Given the description of an element on the screen output the (x, y) to click on. 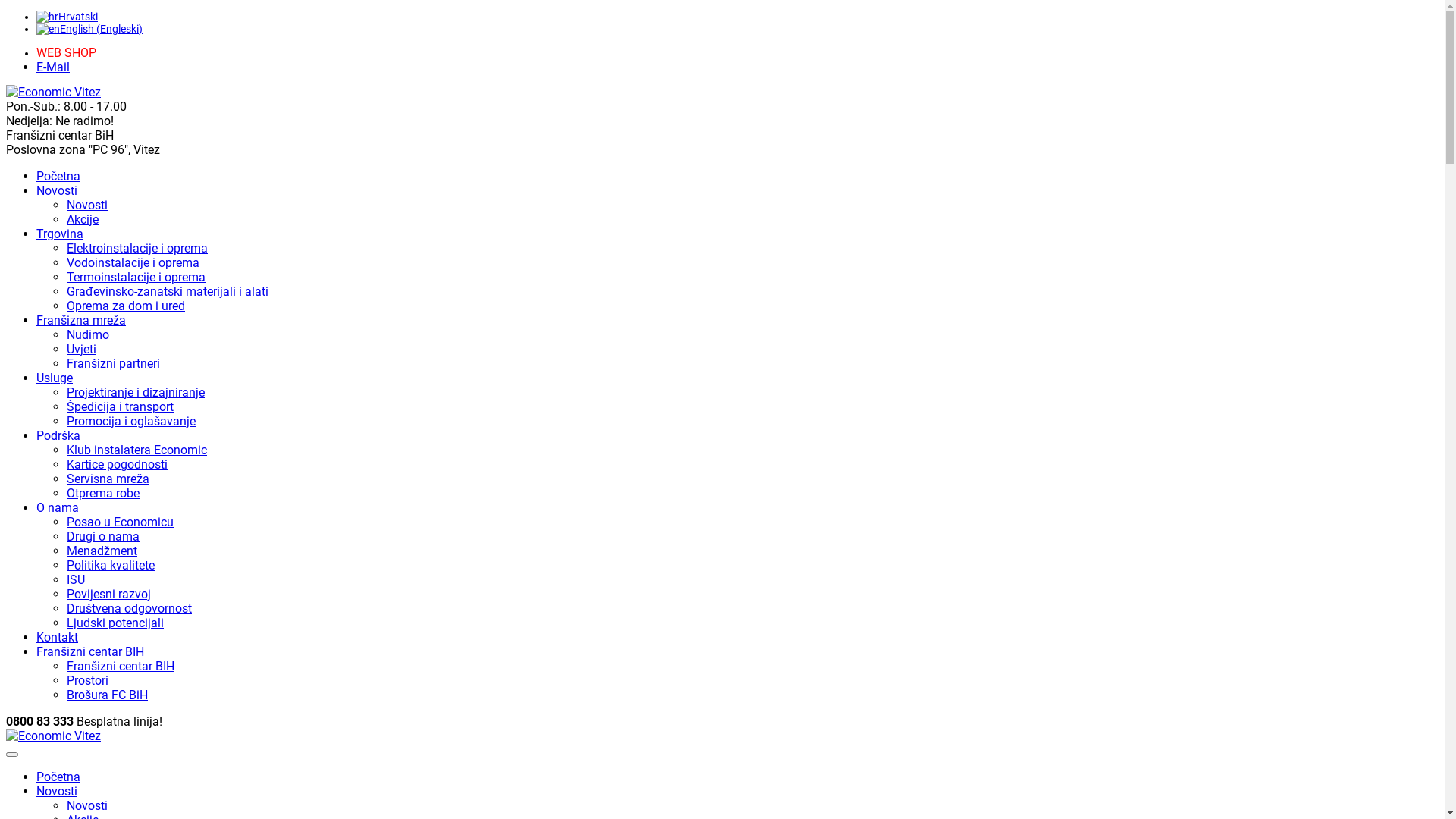
Otprema robe Element type: text (102, 493)
Novosti Element type: text (56, 190)
Oprema za dom i ured Element type: text (125, 305)
E-Mail Element type: text (52, 66)
Novosti Element type: text (86, 805)
Usluge Element type: text (54, 377)
Akcije Element type: text (82, 219)
Projektiranje i dizajniranje Element type: text (135, 392)
Uvjeti Element type: text (81, 349)
Novosti Element type: text (56, 791)
Kartice pogodnosti Element type: text (116, 464)
ISU Element type: text (75, 579)
Elektroinstalacije i oprema Element type: text (136, 248)
Prostori Element type: text (87, 680)
Klub instalatera Economic Element type: text (136, 449)
Novosti Element type: text (86, 204)
Hrvatski Element type: hover (47, 16)
Hrvatski Element type: text (66, 16)
Trgovina Element type: text (59, 233)
English (Engleski) Element type: text (89, 28)
Vodoinstalacije i oprema Element type: text (132, 262)
Nudimo Element type: text (87, 334)
English Element type: hover (47, 28)
Ljudski potencijali Element type: text (114, 622)
Kontakt Element type: text (57, 637)
O nama Element type: text (57, 507)
Povijesni razvoj Element type: text (108, 593)
Drugi o nama Element type: text (102, 536)
Posao u Economicu Element type: text (119, 521)
Termoinstalacije i oprema Element type: text (135, 276)
Politika kvalitete Element type: text (110, 565)
WEB SHOP Element type: text (66, 53)
